Given the description of an element on the screen output the (x, y) to click on. 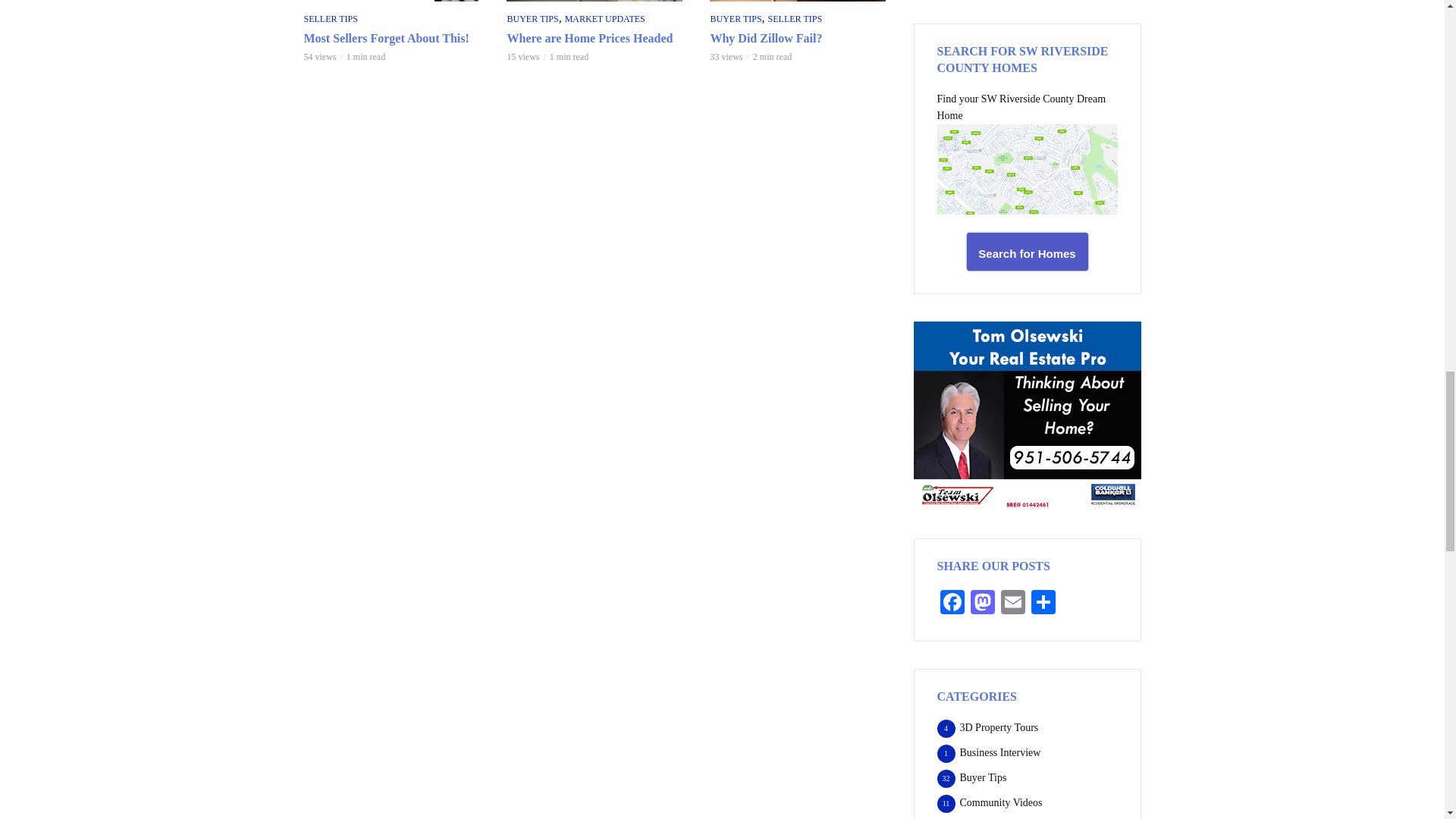
Email (1012, 603)
Facebook (952, 603)
Mastodon (982, 603)
